Given the description of an element on the screen output the (x, y) to click on. 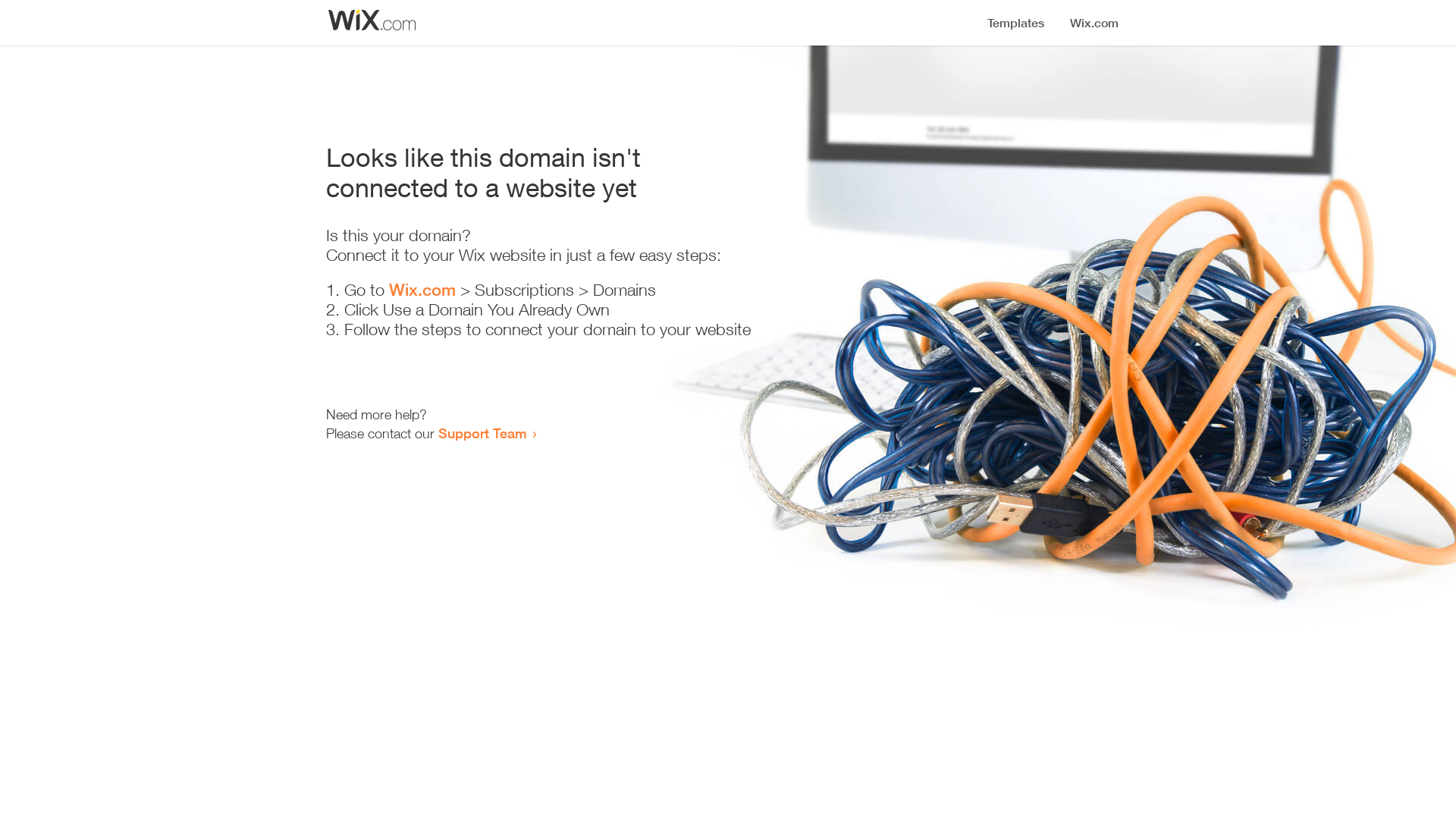
Support Team Element type: text (482, 432)
Wix.com Element type: text (422, 289)
